Given the description of an element on the screen output the (x, y) to click on. 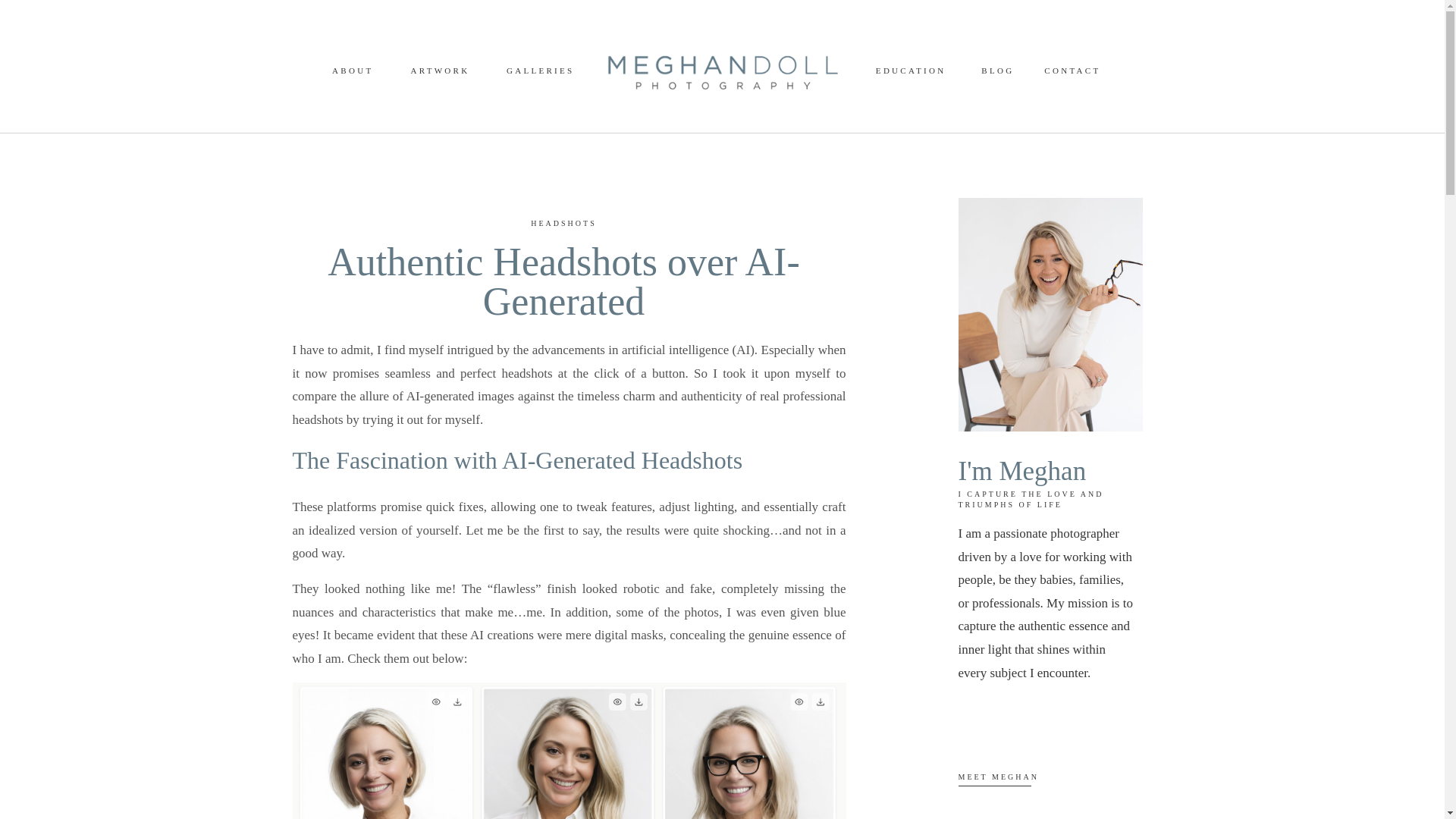
HEADSHOTS (563, 223)
ABOUT (350, 70)
EDUCATION (906, 70)
MEET MEGHAN (1046, 782)
BLOG (995, 70)
ARTWORK (438, 70)
GALLERIES (539, 70)
CONTACT (1069, 70)
